Given the description of an element on the screen output the (x, y) to click on. 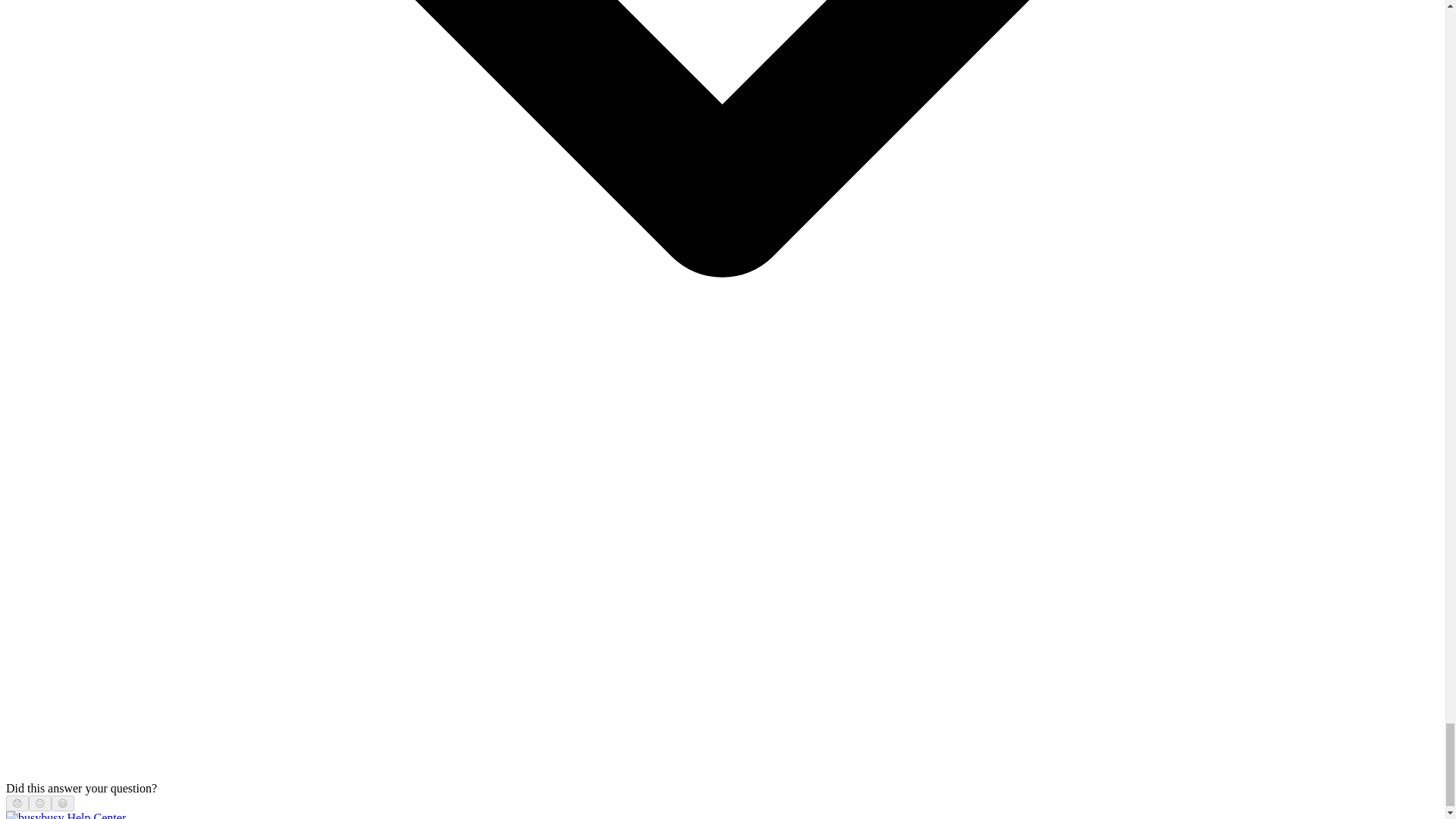
Smiley (63, 803)
Neutral (39, 803)
Disappointed (17, 803)
